Given the description of an element on the screen output the (x, y) to click on. 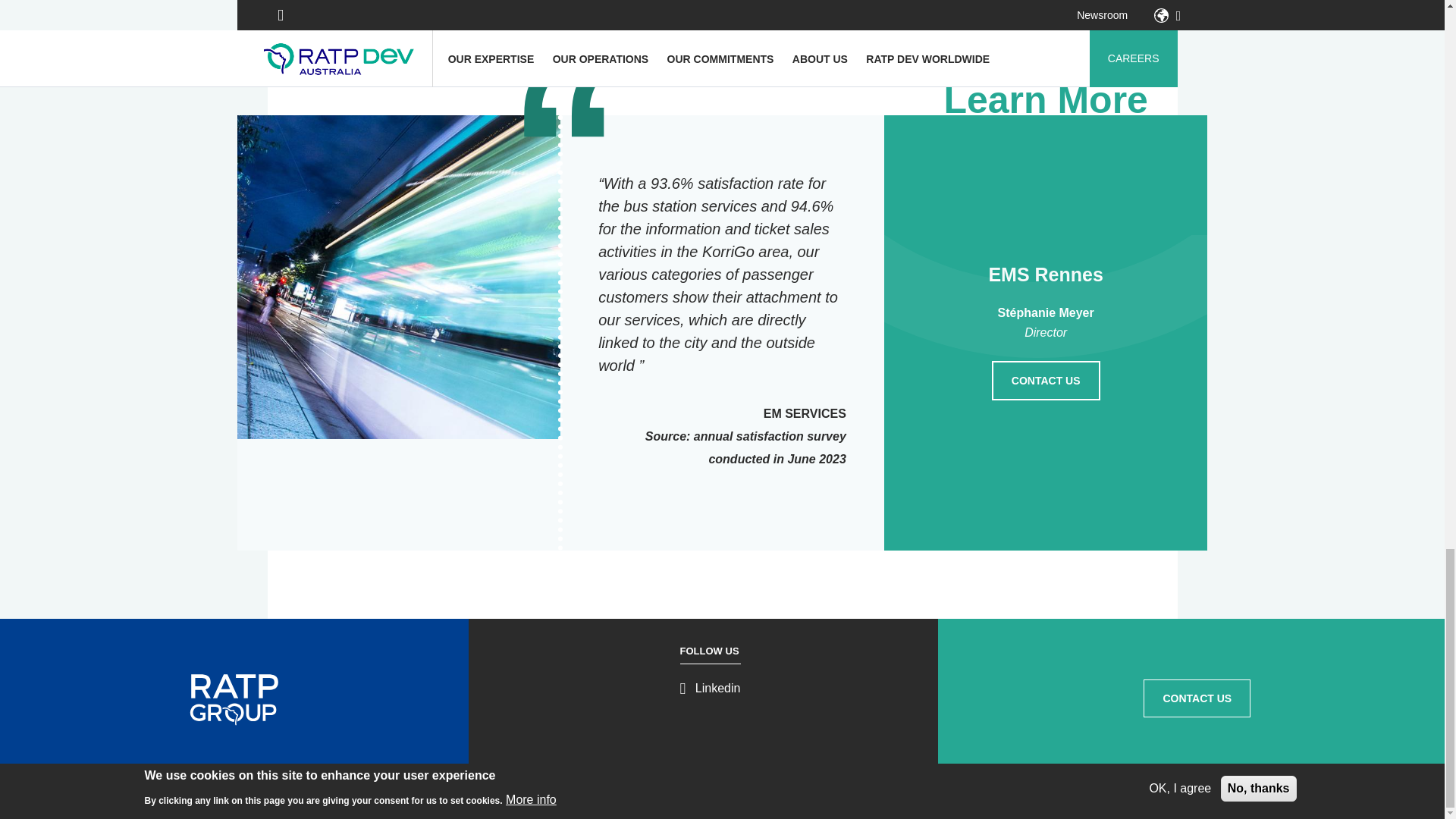
Privacy Policy (735, 797)
Linkedin (710, 687)
Contact (786, 797)
CONTACT US (1196, 698)
CONTACT US (1045, 380)
Legal Notice (671, 797)
